Given the description of an element on the screen output the (x, y) to click on. 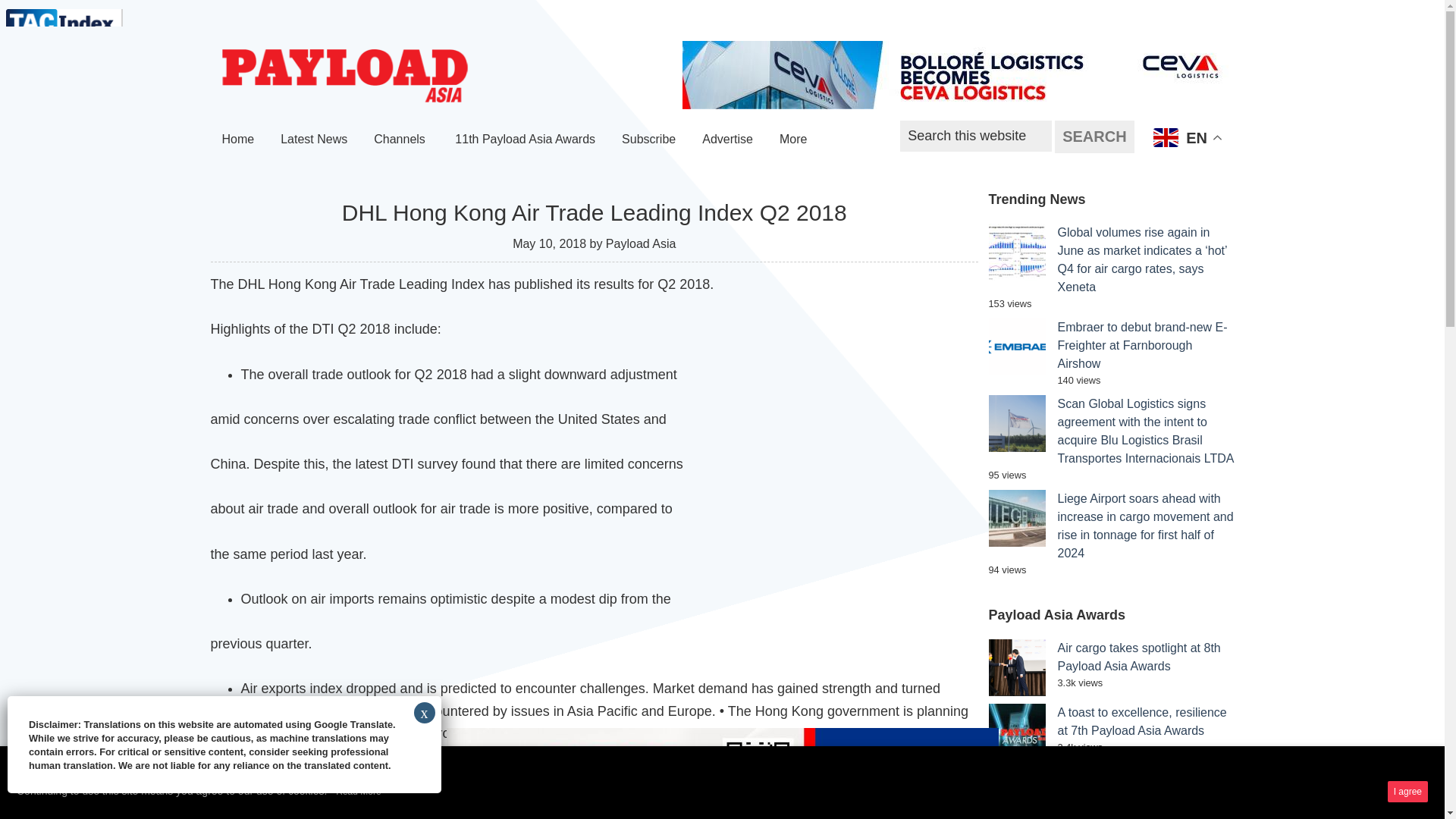
Payload Asia (344, 75)
Search (1094, 136)
Channels  (400, 139)
Subscribe (648, 139)
Latest News (313, 139)
Advertise (727, 139)
Search (1094, 136)
Home (238, 139)
11th Payload Asia Awards (525, 139)
Search (1094, 136)
More  (795, 139)
